Given the description of an element on the screen output the (x, y) to click on. 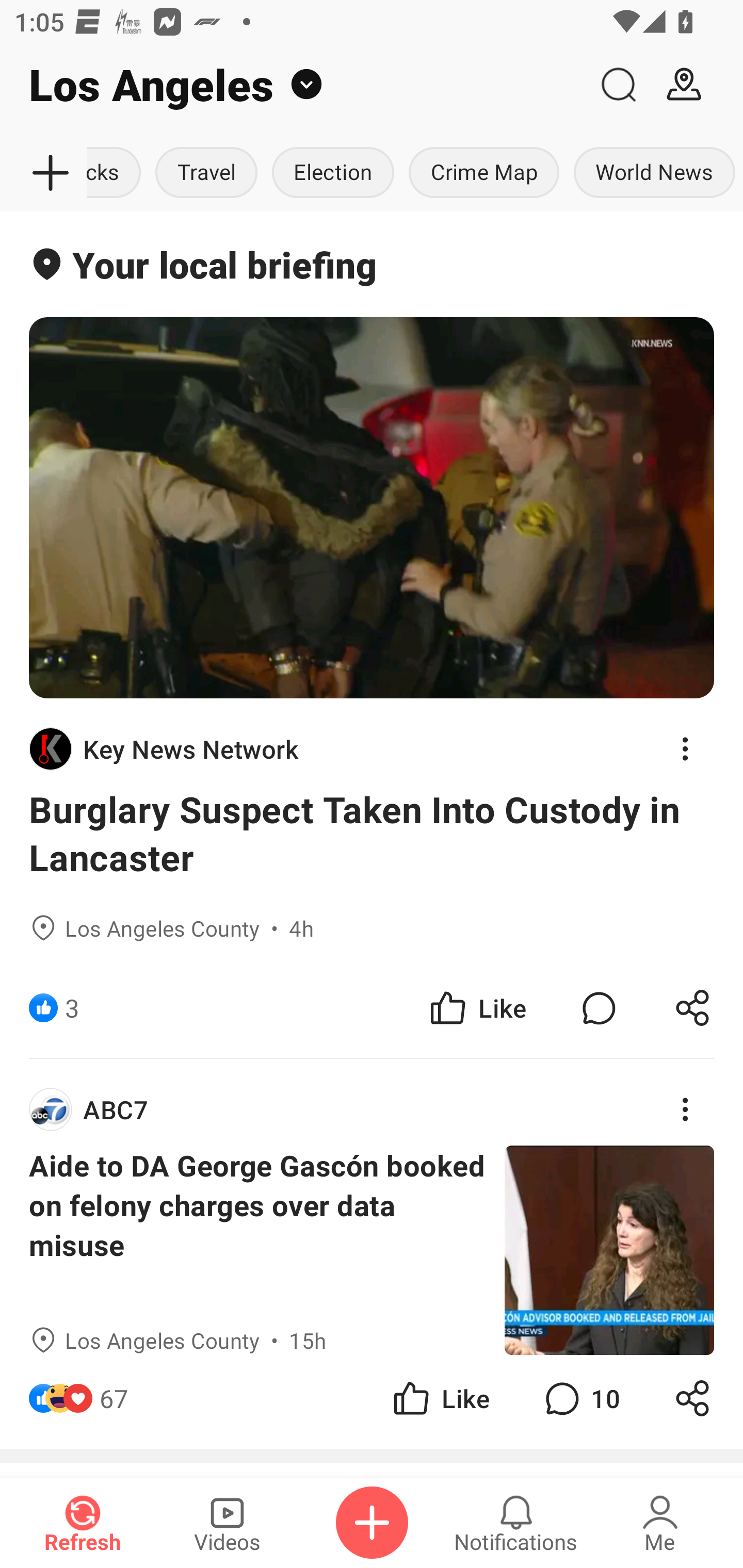
Los Angeles (292, 84)
Travel (205, 172)
Election (332, 172)
Crime Map (483, 172)
World News (654, 172)
3 (72, 1007)
Like (476, 1007)
67 (113, 1397)
Like (439, 1397)
10 (579, 1397)
Videos (227, 1522)
Notifications (516, 1522)
Me (659, 1522)
